Given the description of an element on the screen output the (x, y) to click on. 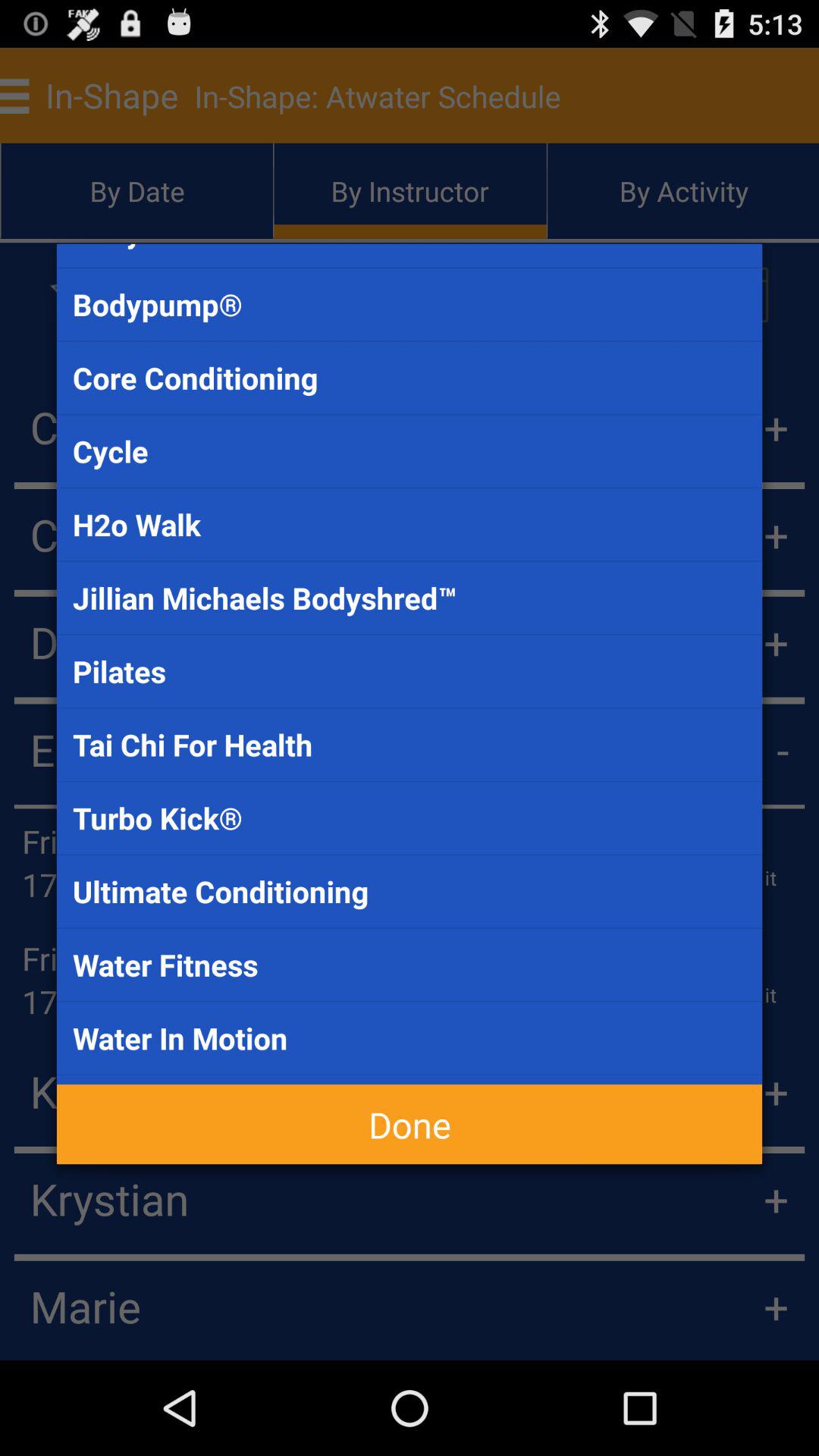
open the app above the yoga icon (409, 1038)
